Given the description of an element on the screen output the (x, y) to click on. 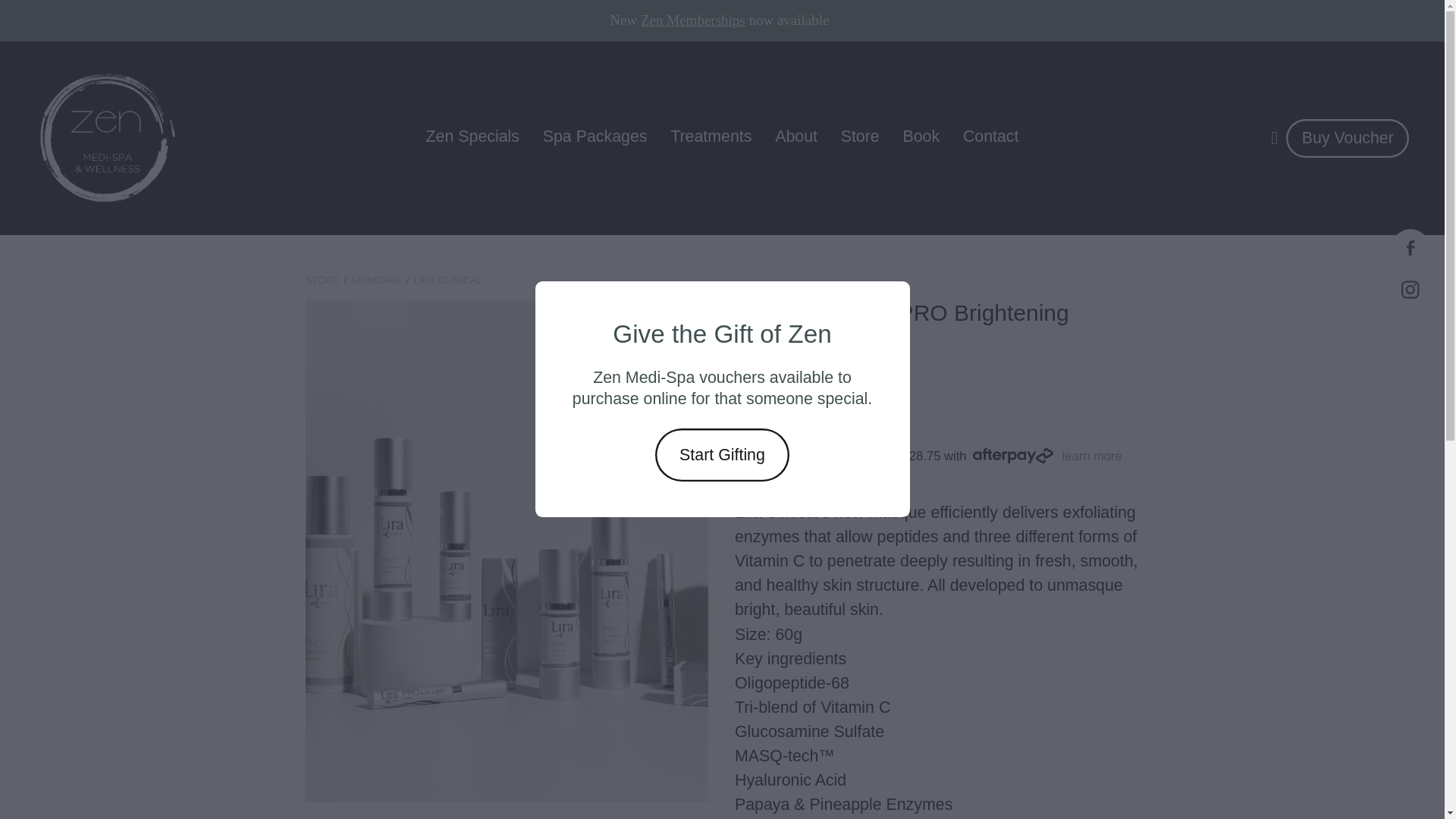
SKINCARE (375, 279)
Contact (990, 136)
A link to this website's Facebook. (1410, 247)
Spa Packages (595, 136)
Zen Specials (472, 136)
Book (920, 136)
Zen Memberships (692, 19)
Store (860, 136)
Treatments (710, 136)
A link to this website's Instagram. (1410, 289)
About (795, 136)
STORE (322, 279)
Buy Voucher (1347, 138)
